Given the description of an element on the screen output the (x, y) to click on. 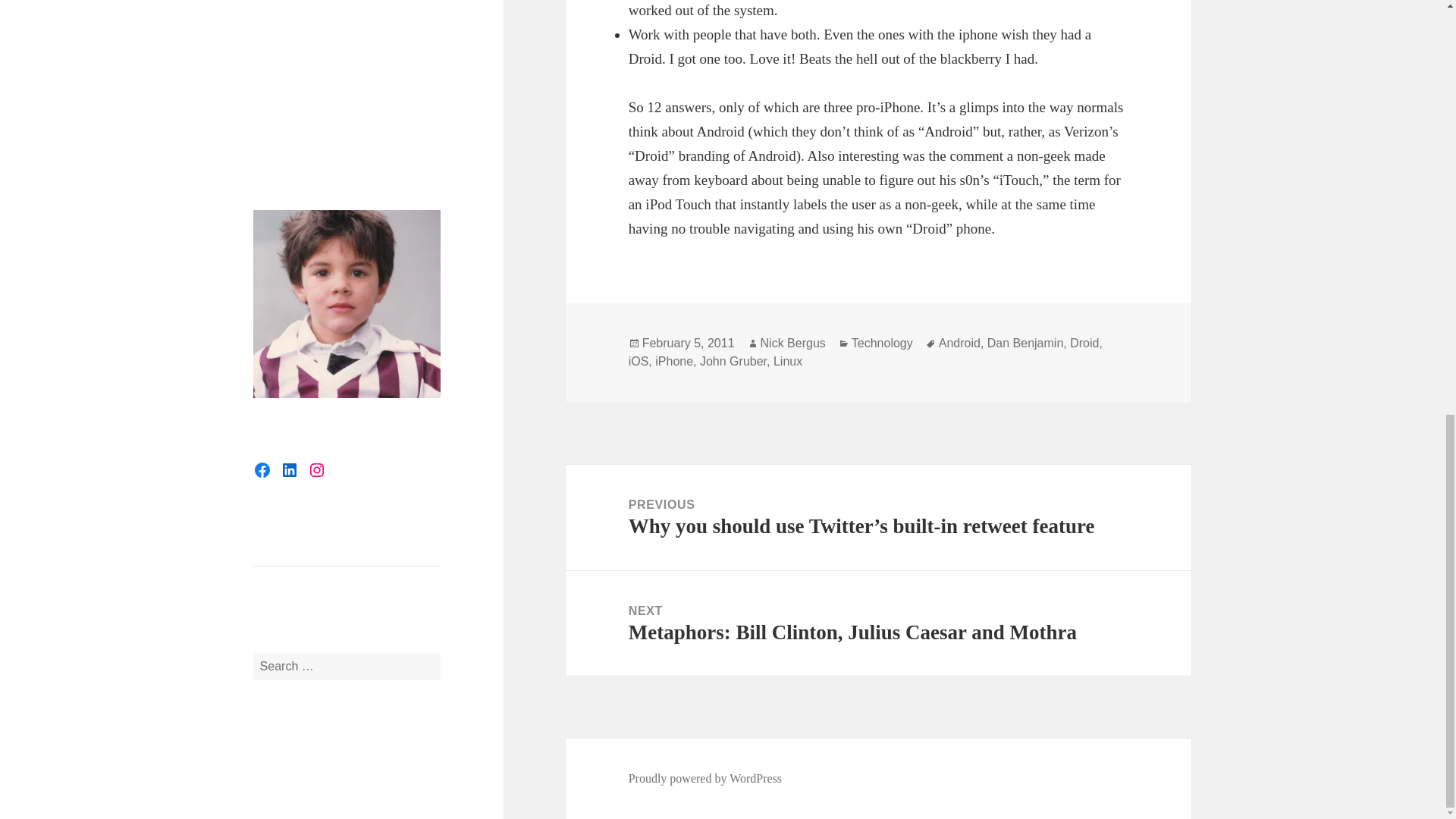
Proudly powered by WordPress (704, 778)
John Gruber (733, 361)
Linux (787, 361)
Droid (1084, 343)
Android (959, 343)
Nick Bergus (792, 343)
Technology (881, 343)
February 5, 2011 (688, 343)
iPhone (674, 361)
Dan Benjamin (1025, 343)
iOS (638, 361)
